Given the description of an element on the screen output the (x, y) to click on. 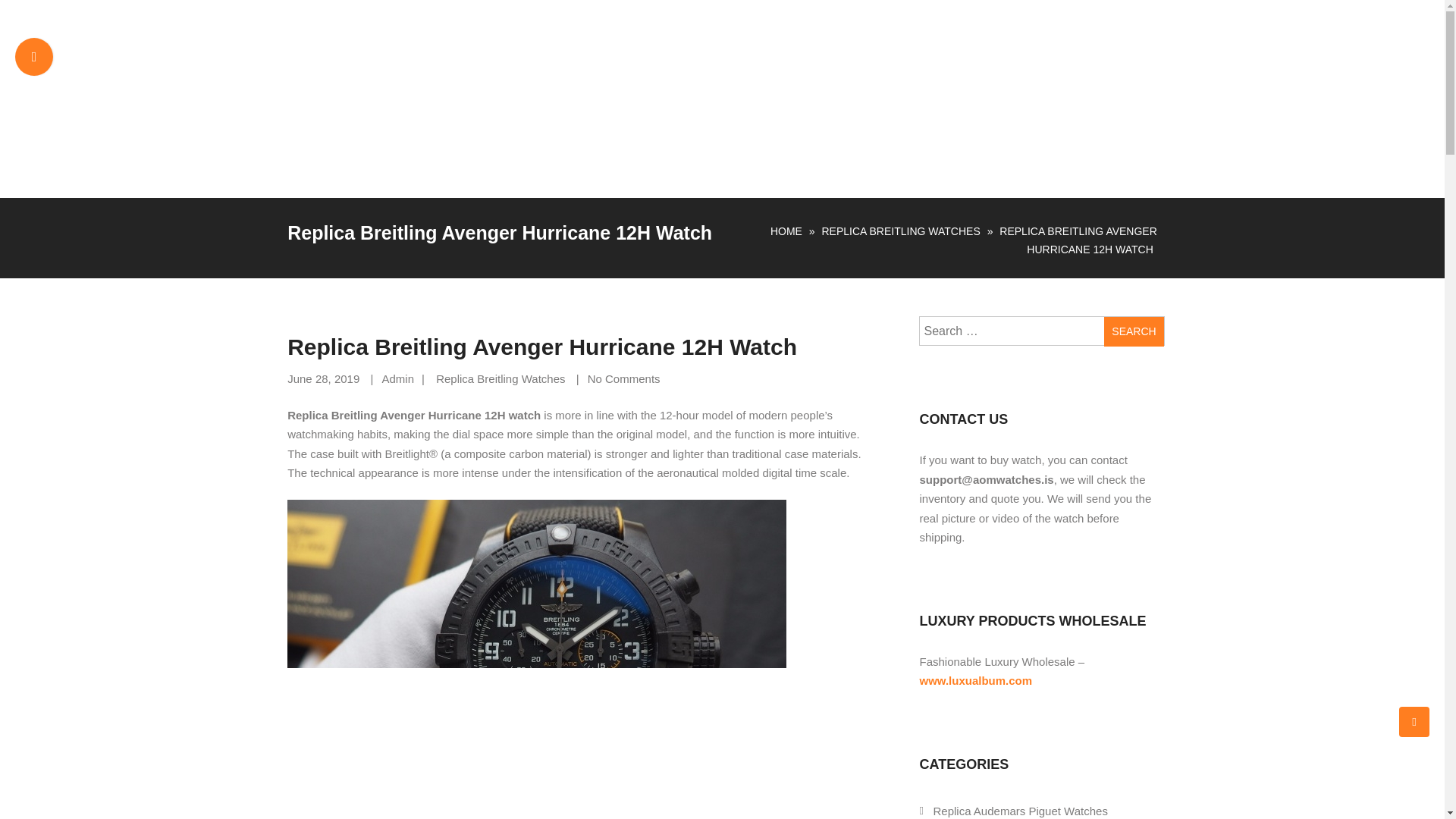
Search (1133, 331)
Replica Breitling Watches (499, 378)
Replica Breitling Avenger Hurricane 12H Watch (541, 346)
HOME (786, 231)
Admin (397, 378)
Search (1133, 331)
REPLICA BREITLING WATCHES (900, 231)
June 28, 2019 (322, 378)
No Comments (624, 378)
Search (1133, 331)
